Given the description of an element on the screen output the (x, y) to click on. 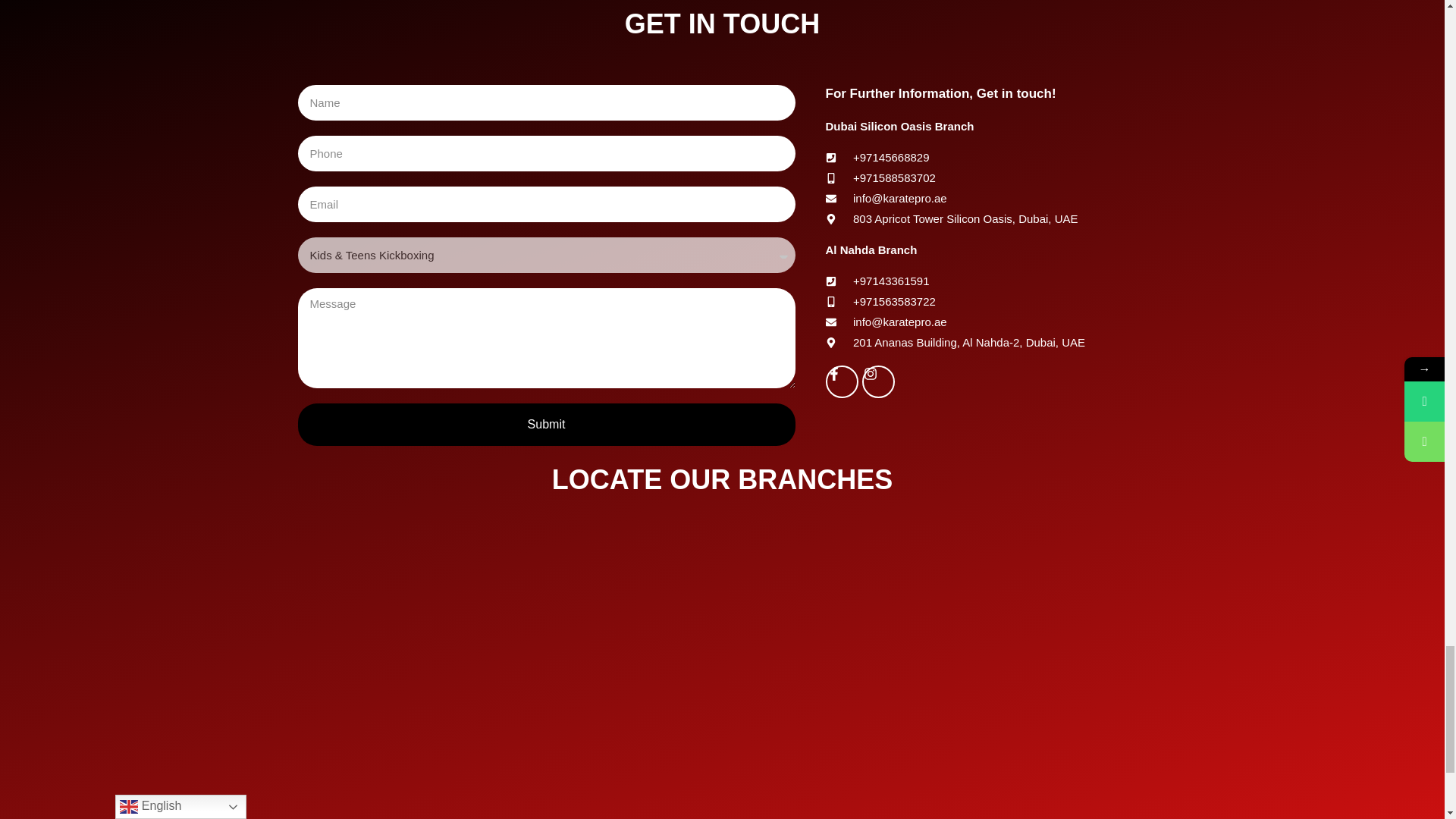
Instagram (878, 381)
Facebook-f (841, 381)
Submit (545, 424)
